Given the description of an element on the screen output the (x, y) to click on. 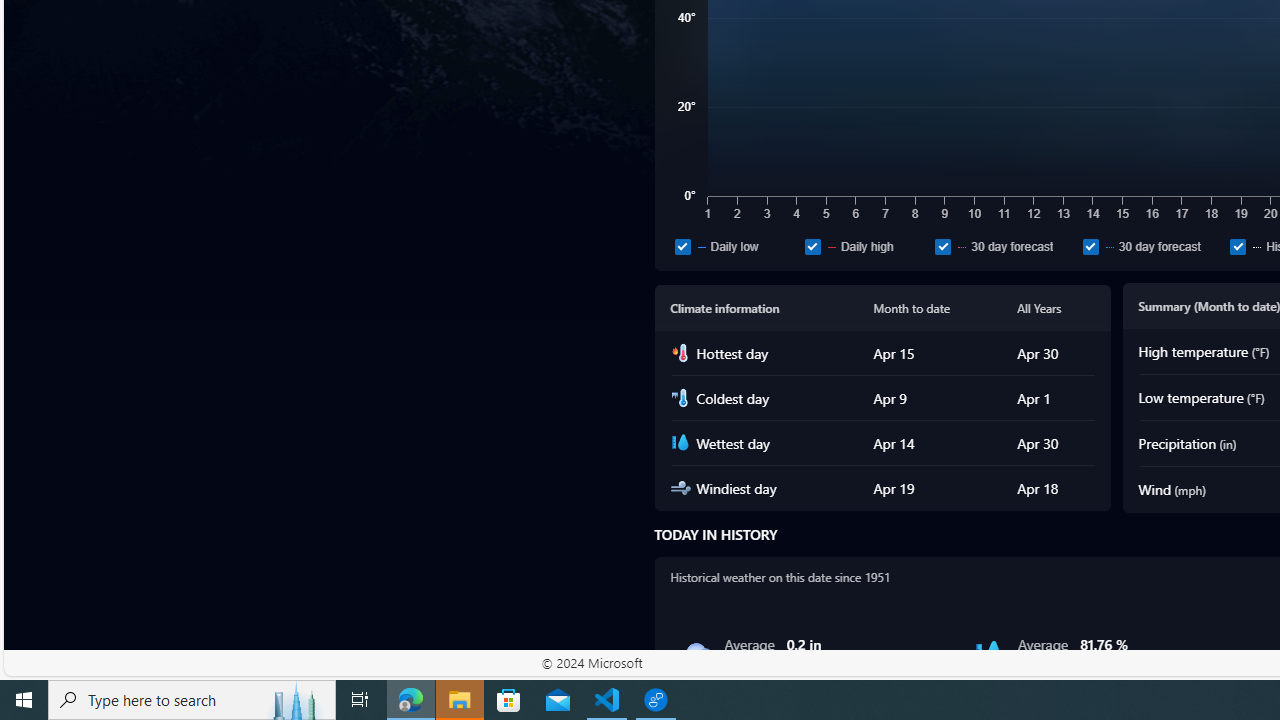
Humidity (989, 654)
Historical daily temperature (1238, 246)
30 day forecast (1090, 246)
Daily low (682, 246)
Rain (695, 654)
Daily high (811, 246)
Daily low (735, 246)
Daily high (865, 246)
30 day forecast (1151, 246)
